Given the description of an element on the screen output the (x, y) to click on. 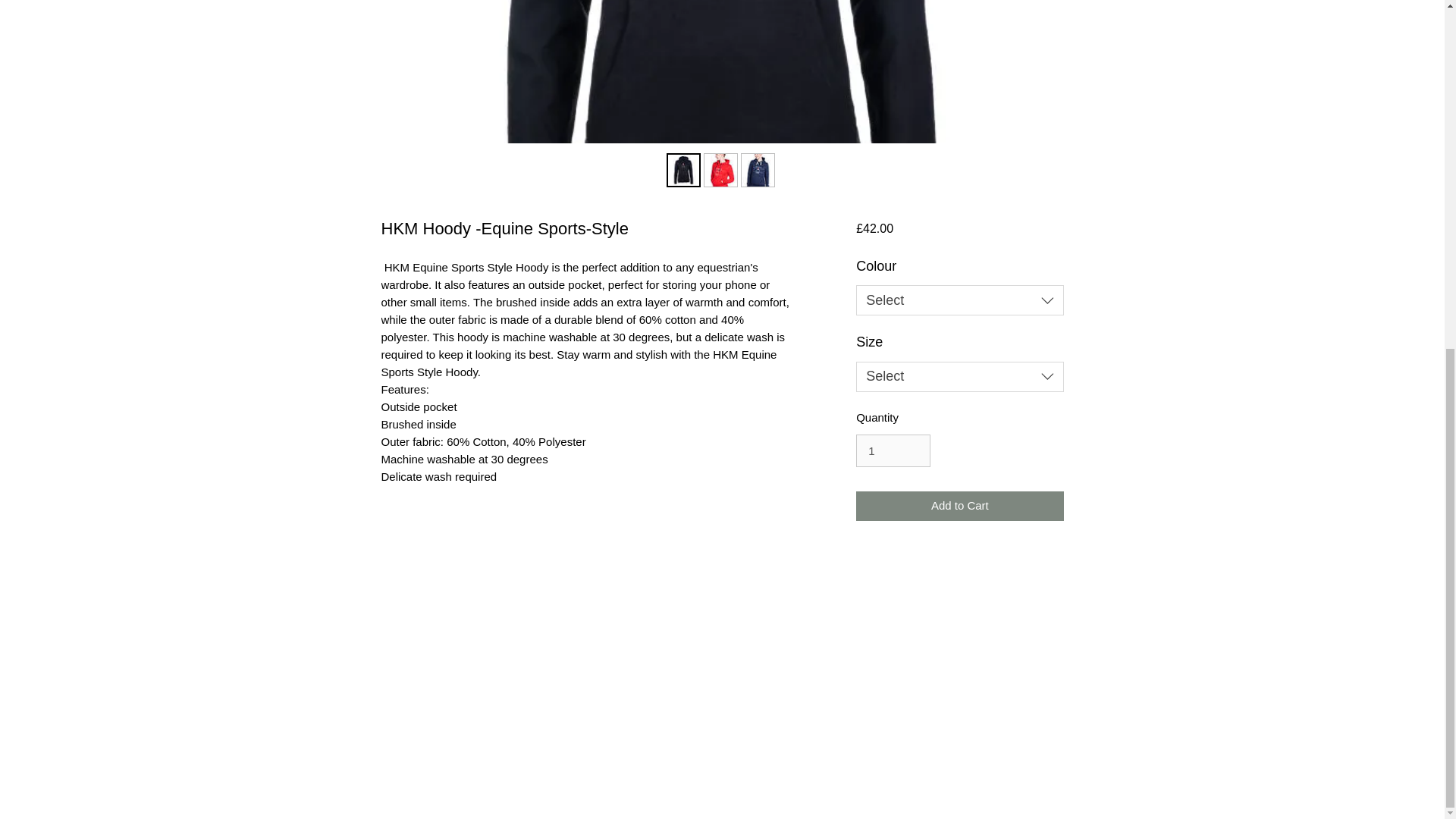
Select (959, 376)
1 (893, 450)
Add to Cart (959, 505)
Select (959, 300)
